Given the description of an element on the screen output the (x, y) to click on. 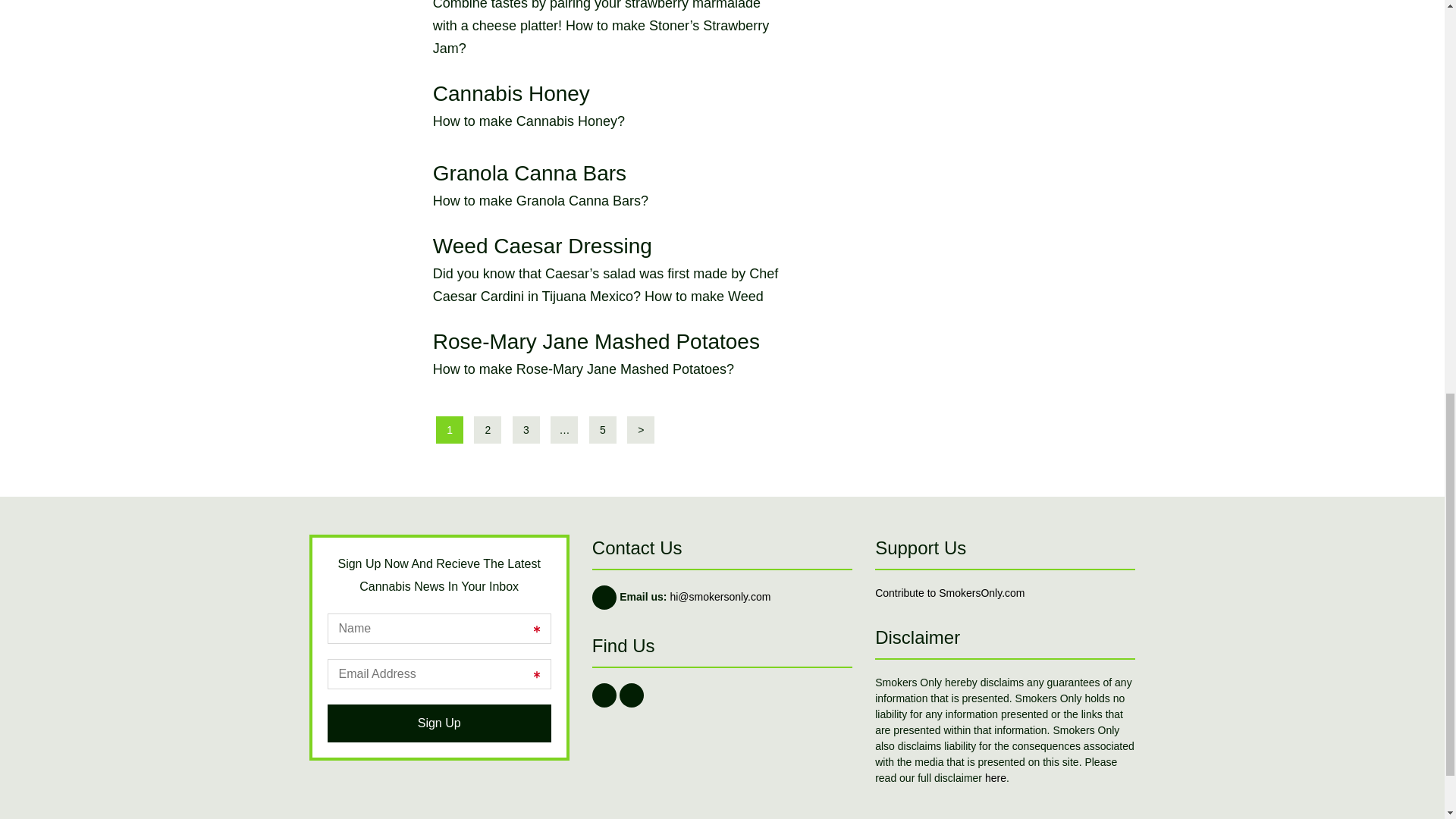
3 (526, 429)
5 (602, 429)
2 (544, 184)
